Given the description of an element on the screen output the (x, y) to click on. 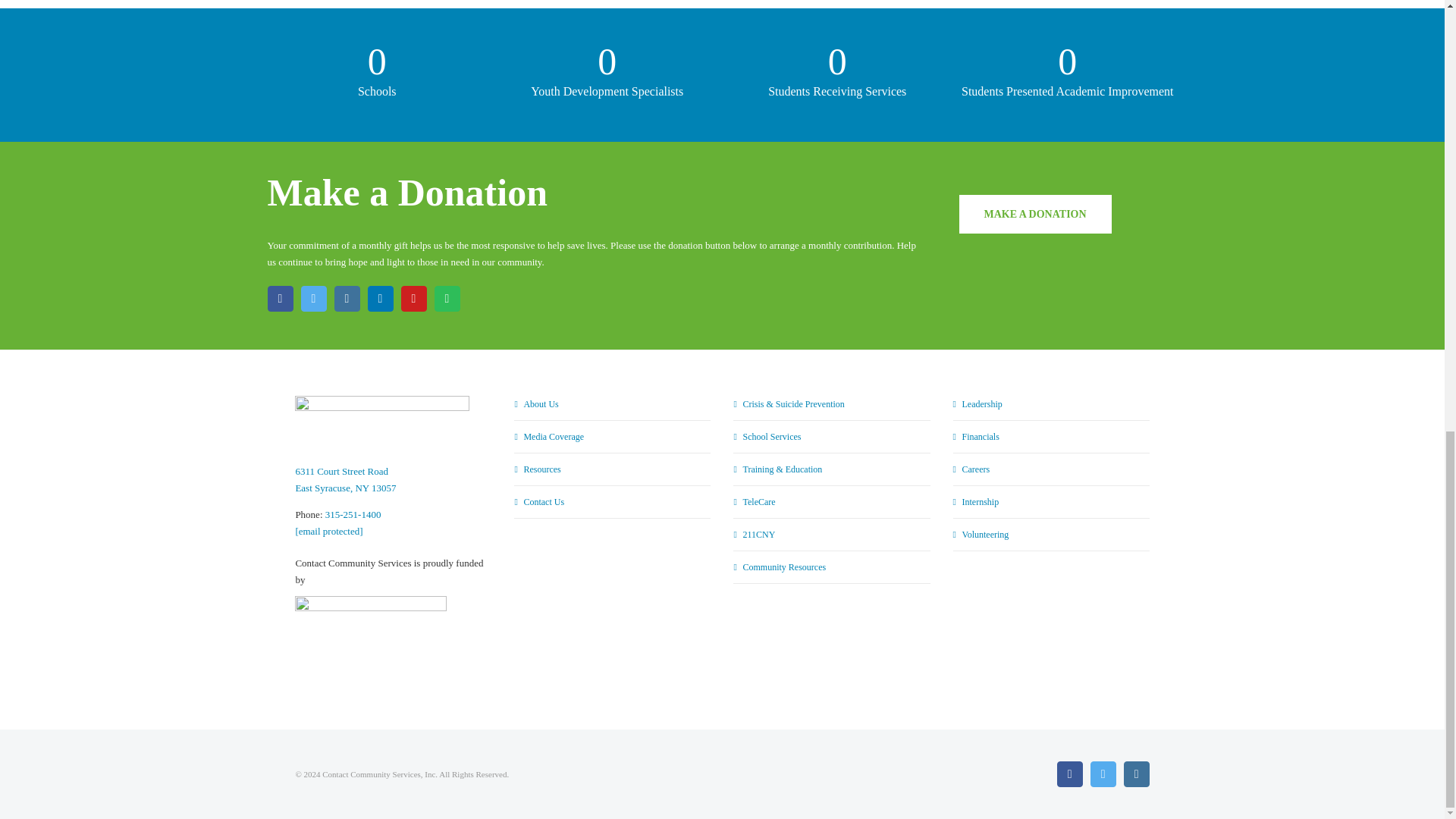
Facebook (279, 298)
LinkedIn (379, 298)
Instagram (1137, 774)
YouTube (413, 298)
Facebook (1070, 774)
Twitter (312, 298)
Spotify (446, 298)
Instagram (346, 298)
Twitter (1103, 774)
